Given the description of an element on the screen output the (x, y) to click on. 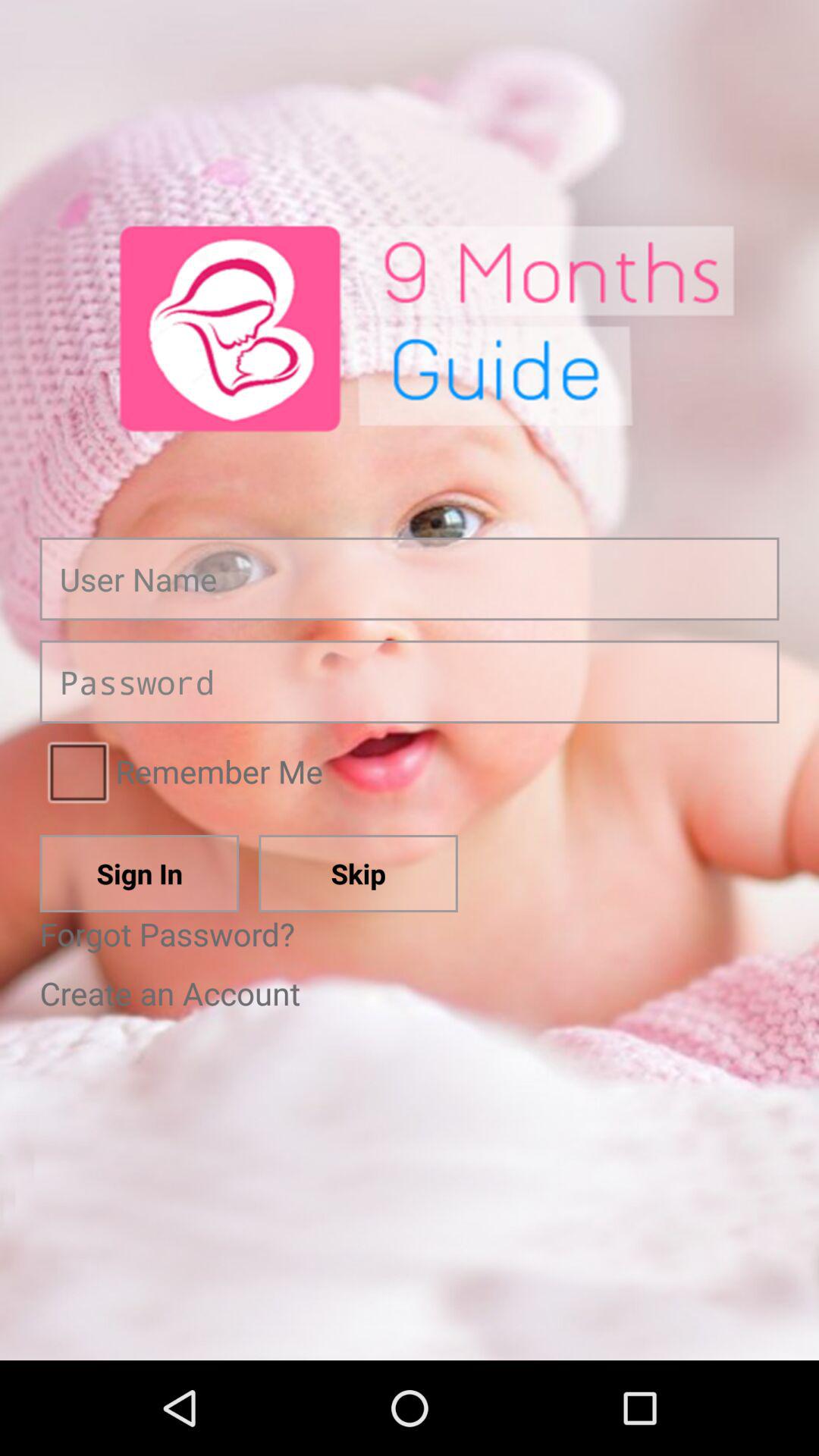
enter the password (409, 681)
